Given the description of an element on the screen output the (x, y) to click on. 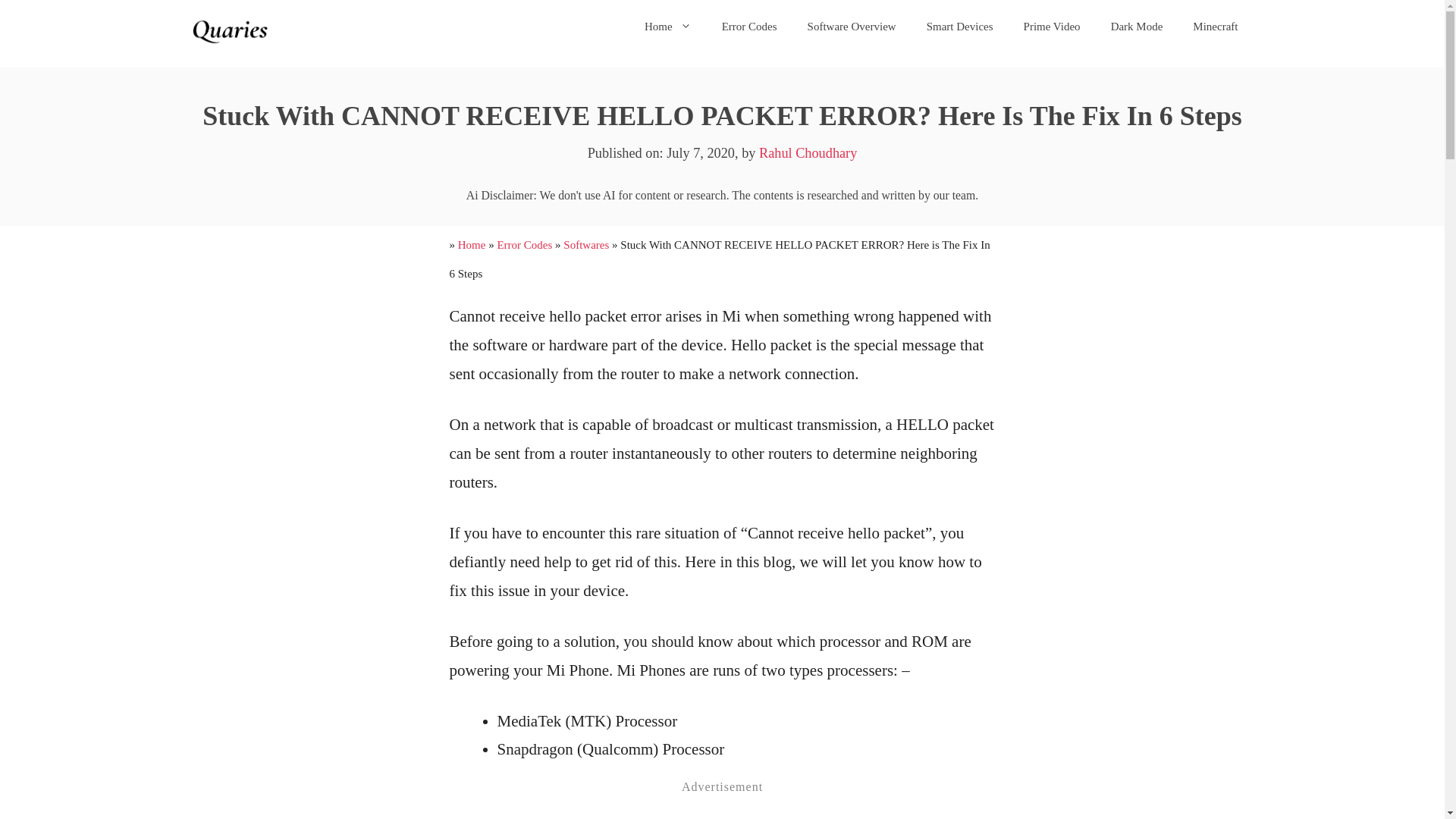
Error Codes (523, 244)
Smart Devices (960, 26)
Home (472, 244)
View all posts by Rahul Choudhary (807, 152)
Rahul Choudhary (807, 152)
Prime Video (1052, 26)
Home (667, 26)
Softwares (585, 244)
Software Overview (851, 26)
Minecraft (1214, 26)
